Given the description of an element on the screen output the (x, y) to click on. 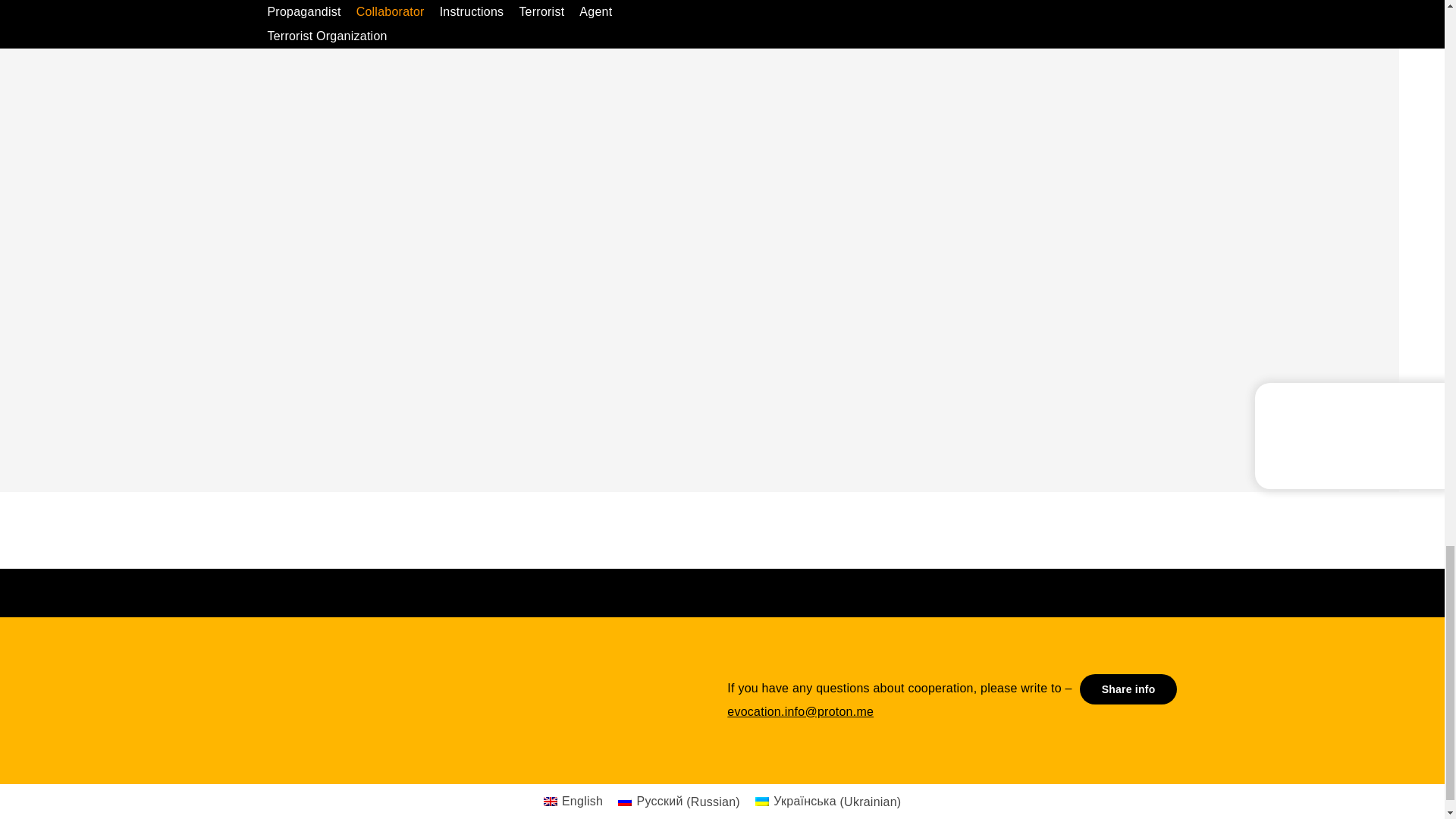
Share info (1128, 689)
